Given the description of an element on the screen output the (x, y) to click on. 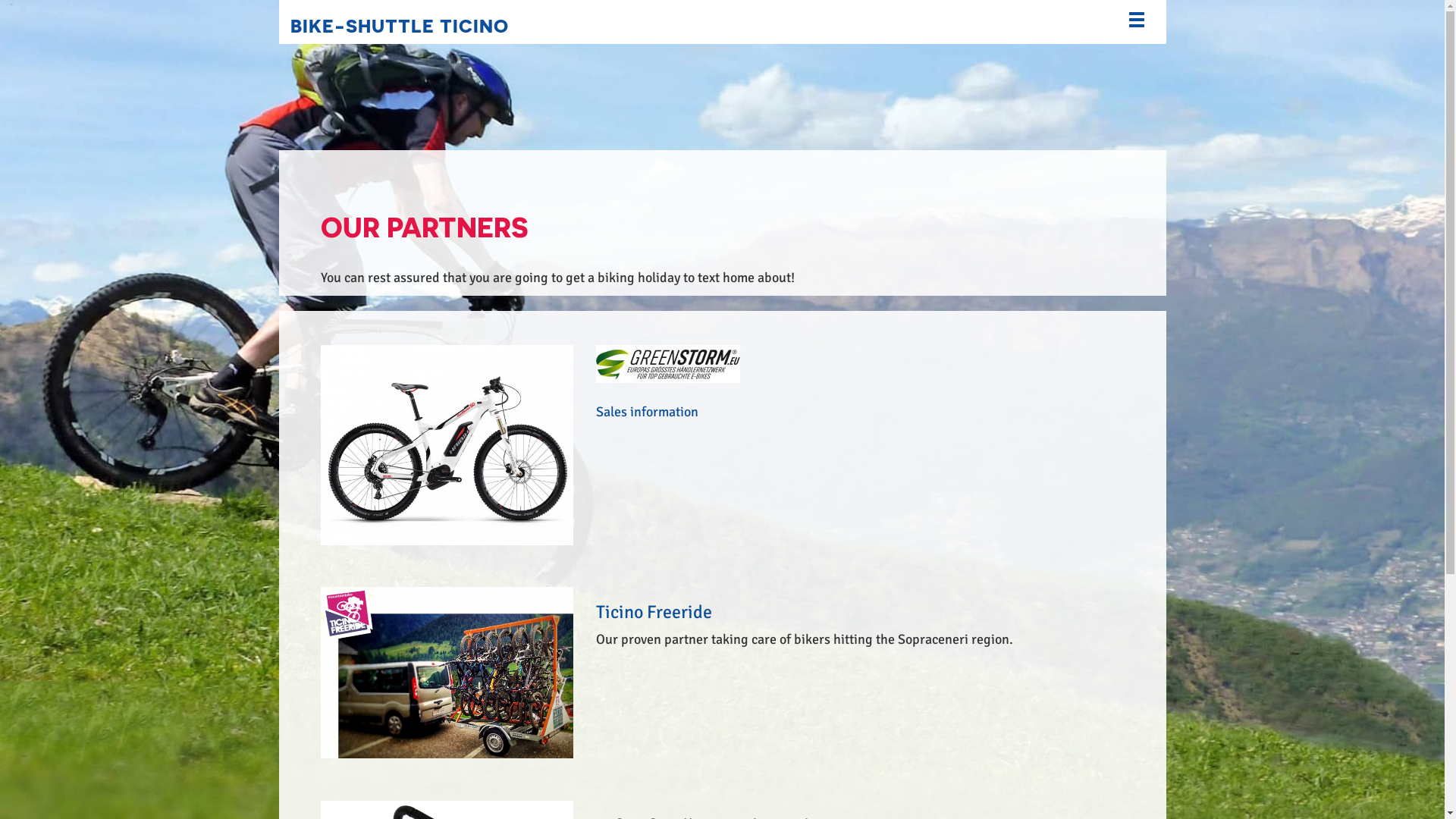
BIKE-SHUTTLE TICINO Element type: text (398, 24)
Ticino Freeride Element type: text (654, 611)
Sales information Element type: text (647, 411)
E-Bike via Bike Shuttle Ticino Element type: hover (446, 443)
